Given the description of an element on the screen output the (x, y) to click on. 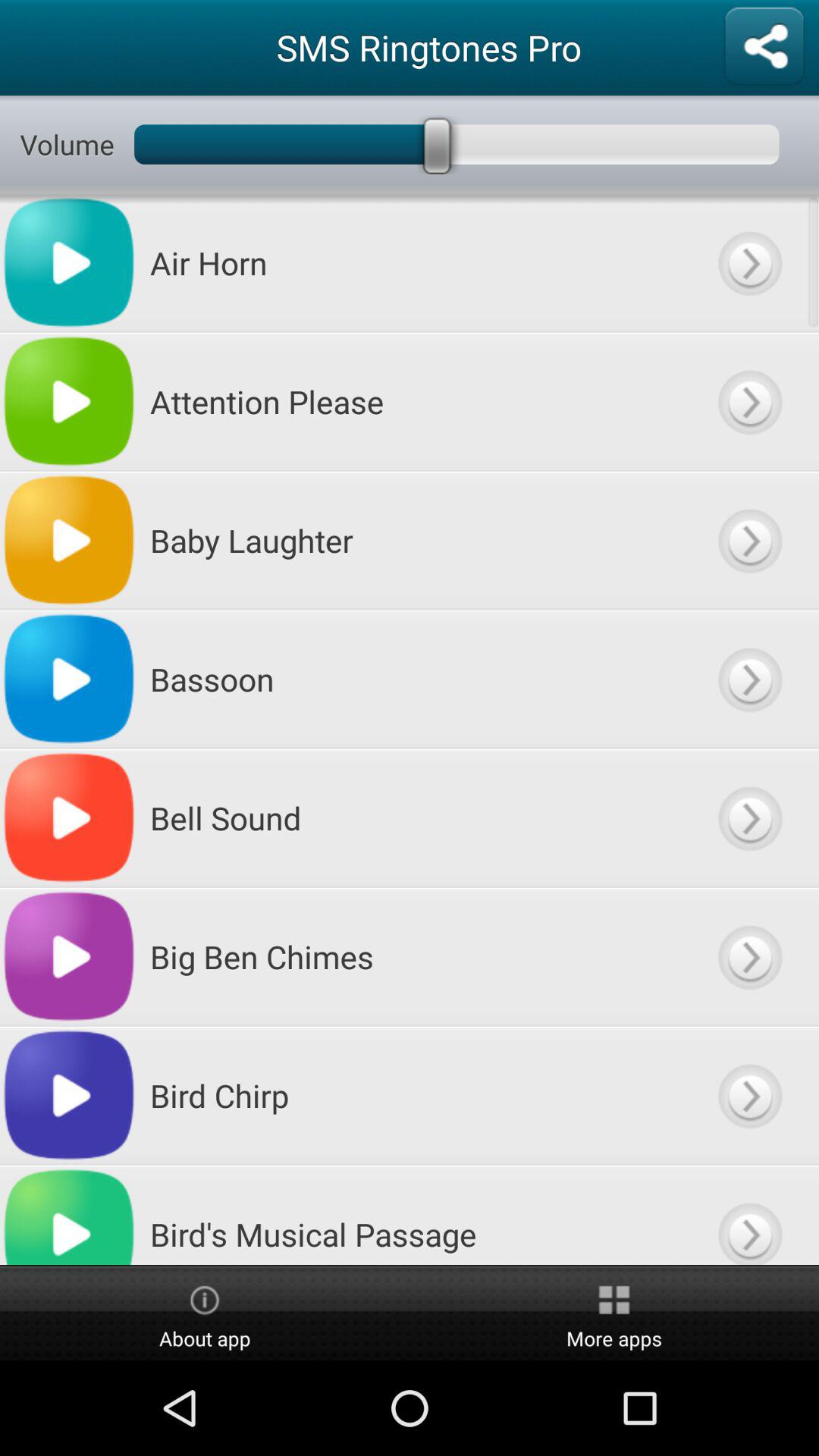
next (749, 956)
